Given the description of an element on the screen output the (x, y) to click on. 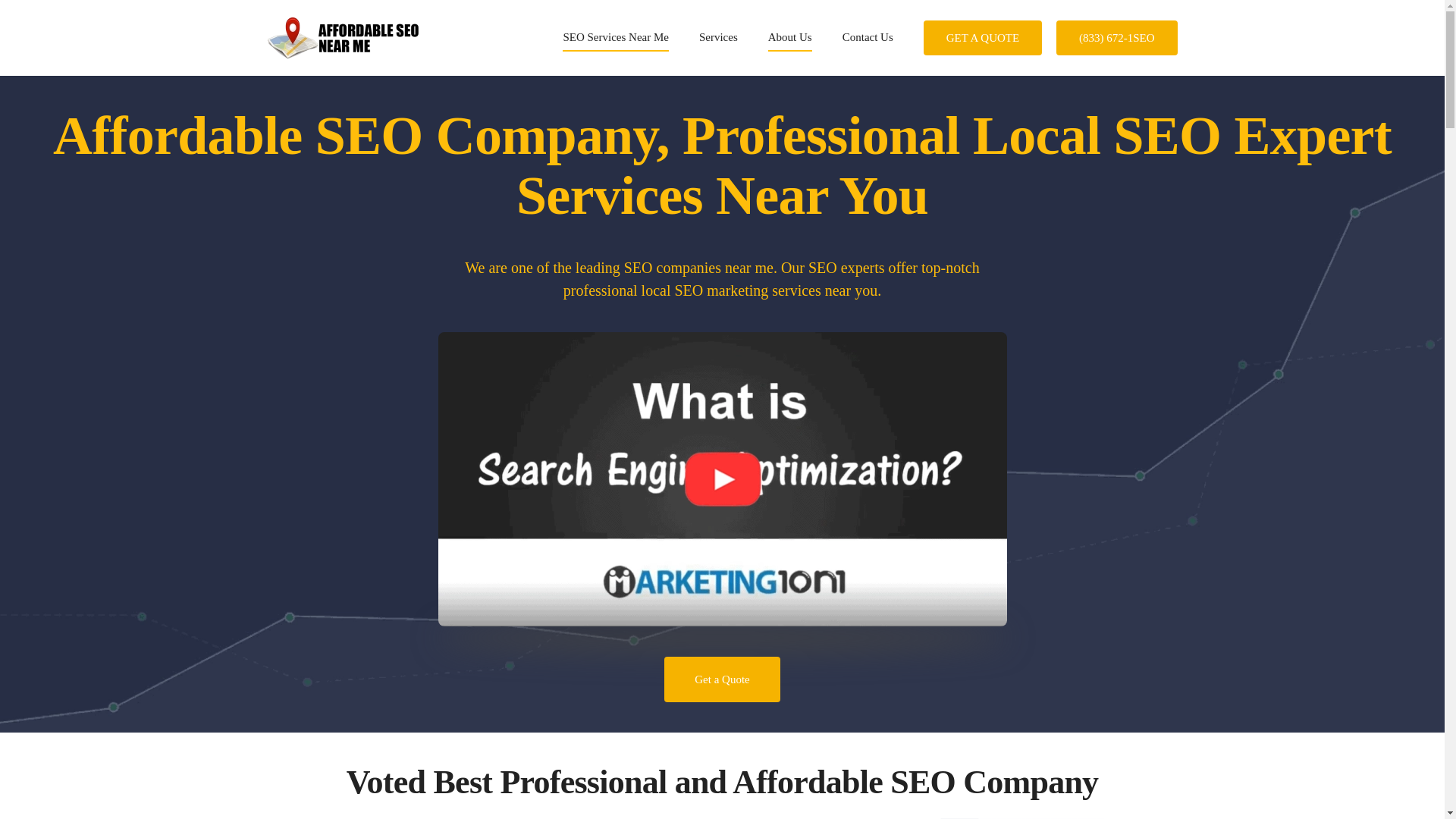
get SEO quote (982, 37)
Get a Quote (720, 678)
GET A QUOTE (982, 37)
SEO Services Near Me (615, 37)
